Given the description of an element on the screen output the (x, y) to click on. 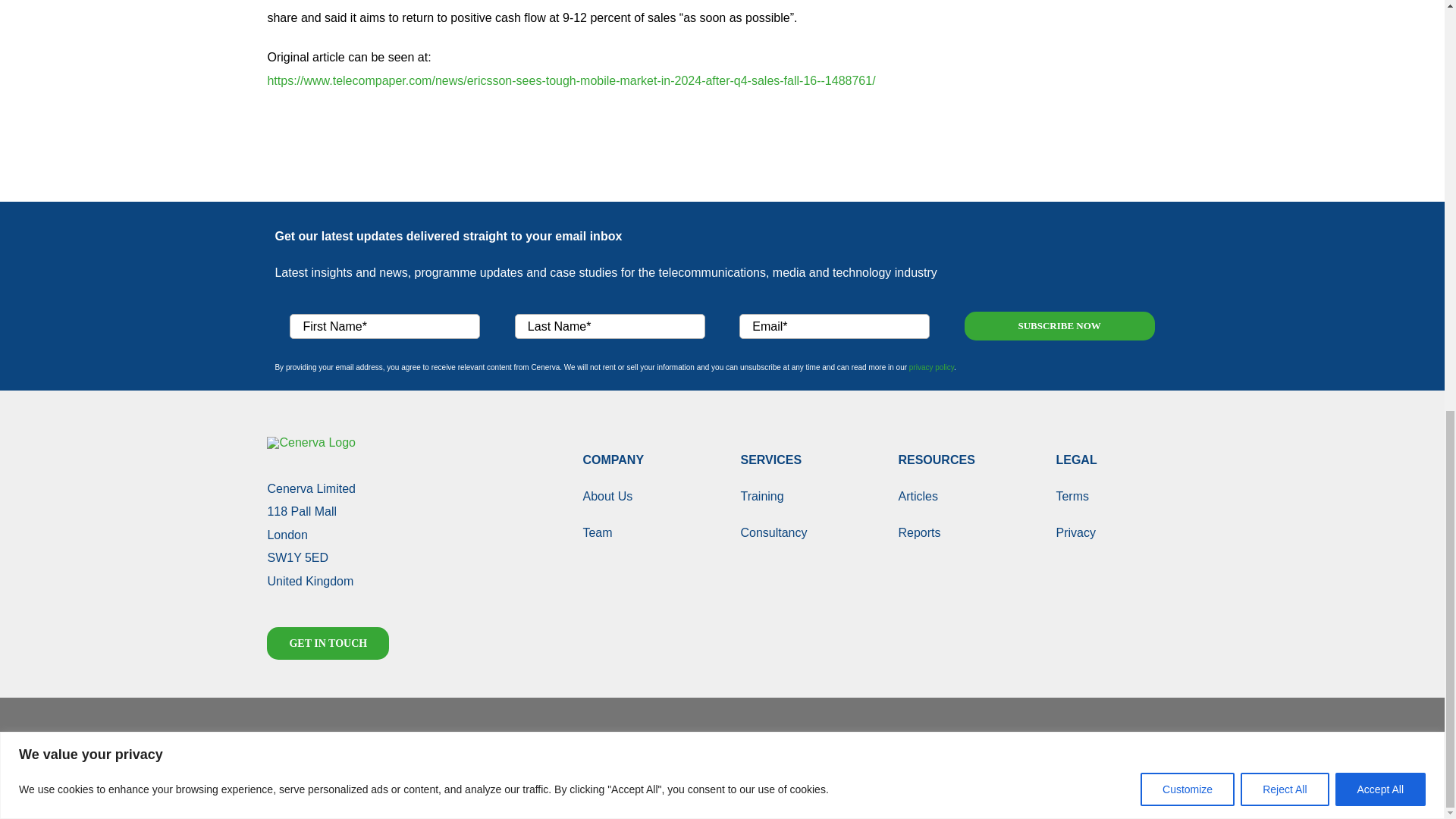
SUBSCRIBE NOW (721, 318)
